Given the description of an element on the screen output the (x, y) to click on. 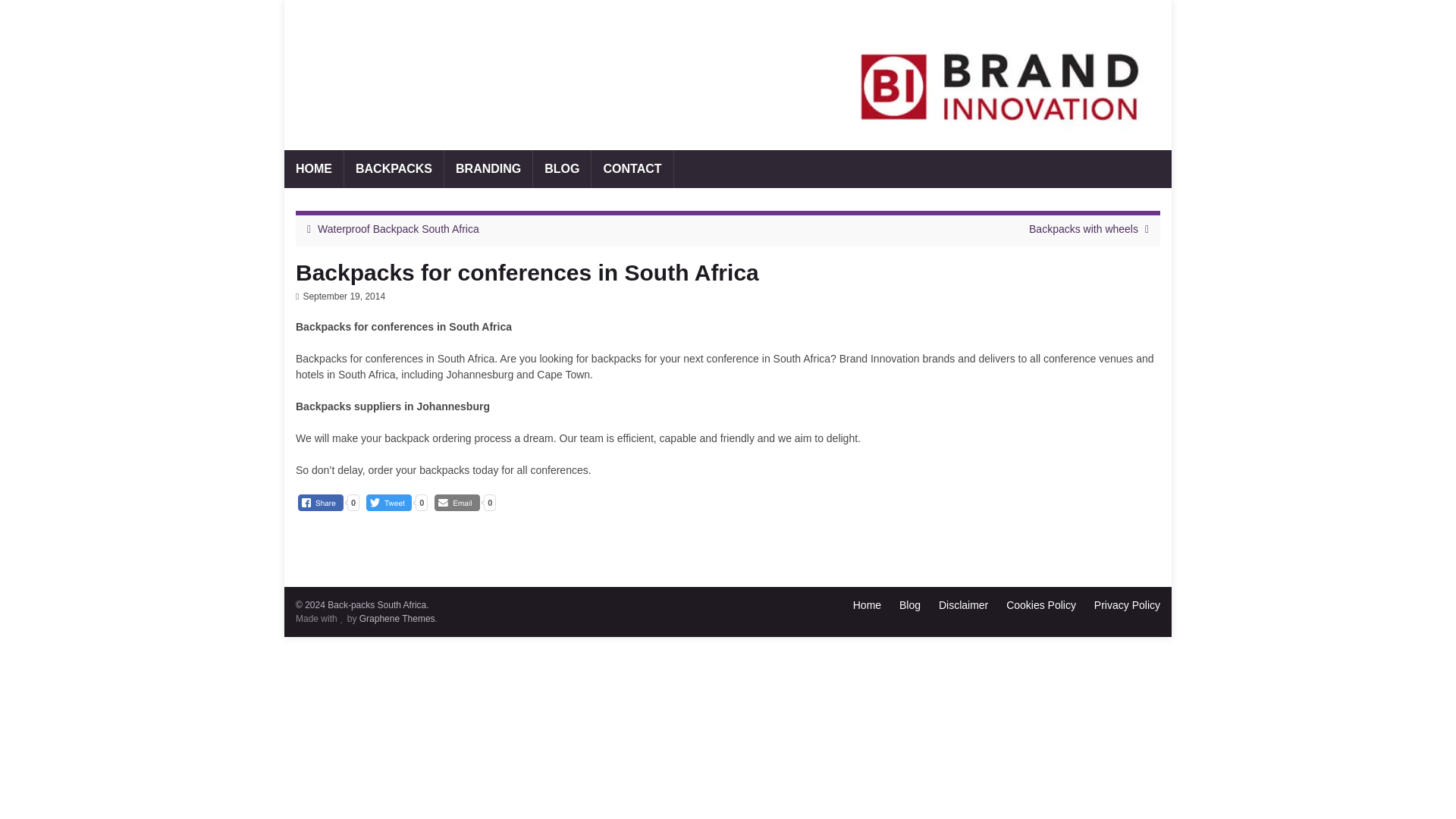
cropped-Untitled-2.jpg (727, 74)
Go back to the front page (418, 87)
Home (866, 604)
Blog (909, 604)
Back-packs South Africa (418, 87)
Disclaimer (963, 604)
Graphene Themes (397, 618)
Waterproof Backpack South Africa (398, 228)
Cookies Policy (1040, 604)
BACKPACKS (393, 168)
